Given the description of an element on the screen output the (x, y) to click on. 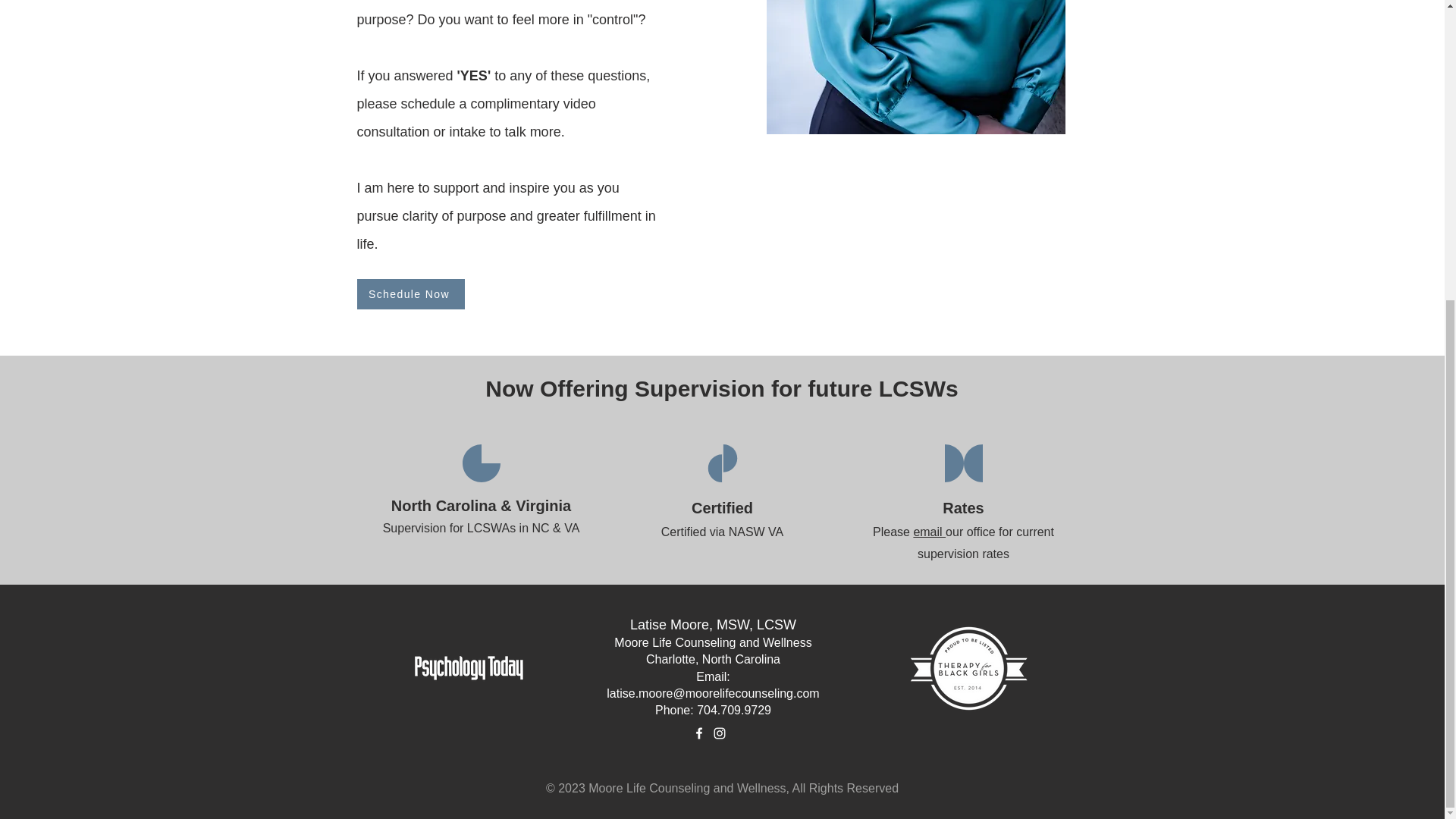
email (928, 531)
Schedule Now (410, 294)
